Given the description of an element on the screen output the (x, y) to click on. 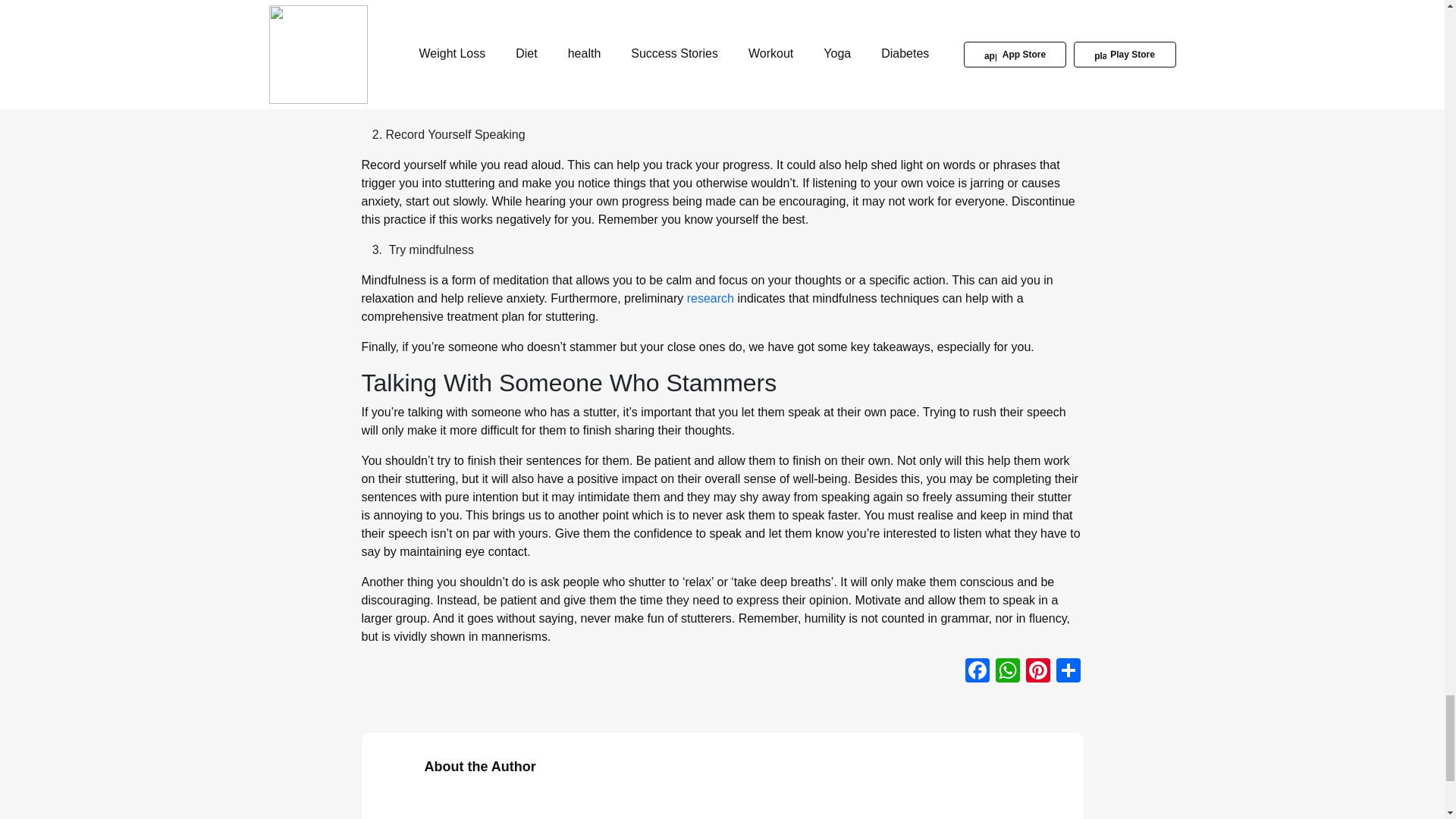
Pinterest (1037, 670)
Pinterest (1037, 670)
WhatsApp (1006, 670)
research (710, 297)
Facebook (975, 670)
WhatsApp (1006, 670)
Share (1067, 670)
Facebook (975, 670)
